Given the description of an element on the screen output the (x, y) to click on. 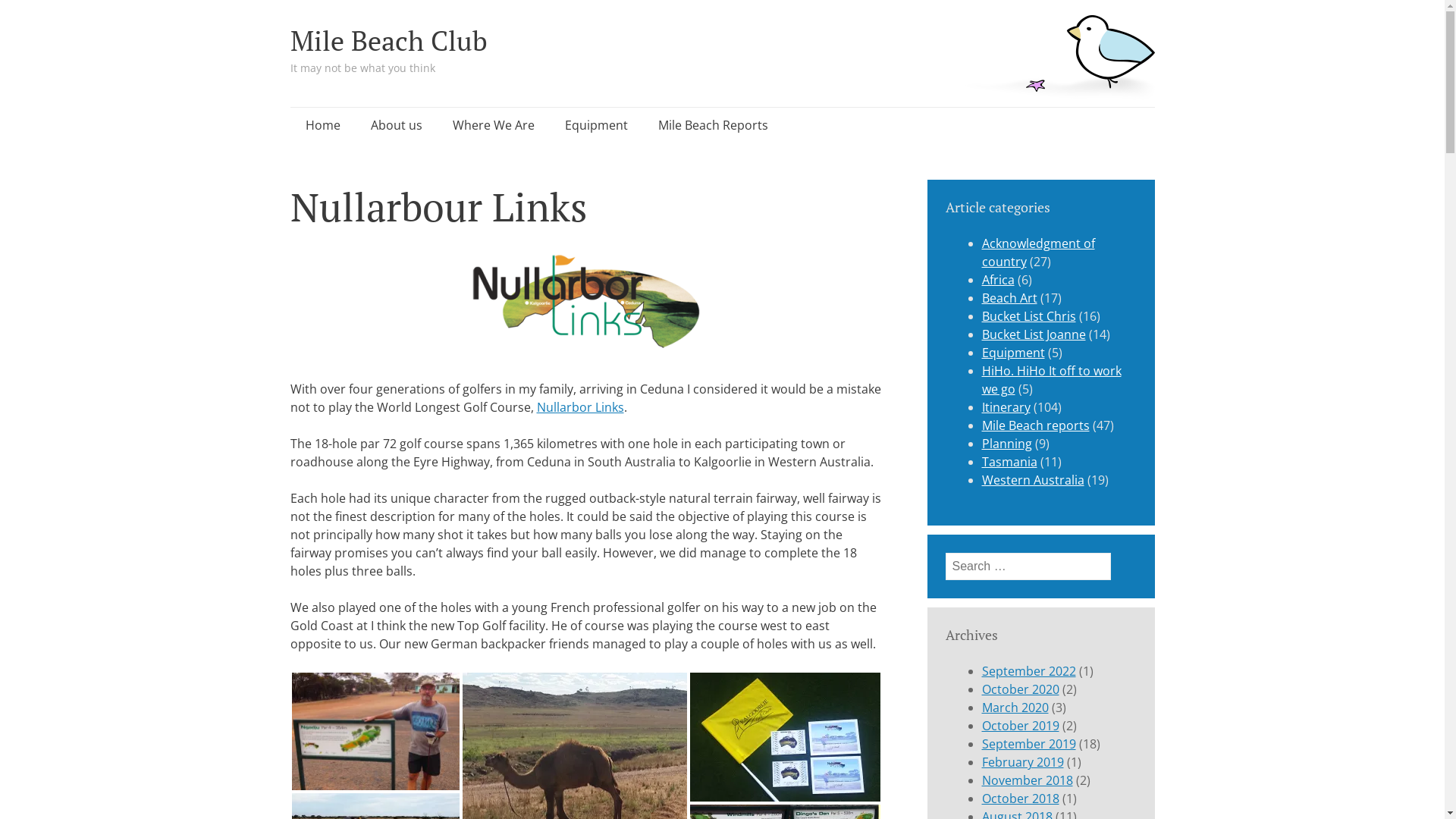
September 2019 Element type: text (1028, 743)
September 2022 Element type: text (1028, 670)
Bucket List Chris Element type: text (1028, 315)
March 2020 Element type: text (1014, 707)
Beach Art Element type: text (1008, 297)
Itinerary Element type: text (1005, 406)
October 2018 Element type: text (1019, 798)
Home Element type: text (321, 124)
Equipment Element type: text (1012, 352)
October 2019 Element type: text (1019, 725)
Mile Beach reports Element type: text (1034, 425)
Mile Beach Club Element type: text (387, 40)
HiHo. HiHo It off to work we go Element type: text (1050, 379)
Bucket List Joanne Element type: text (1033, 334)
Nullarbor Links Element type: text (580, 406)
Western Australia Element type: text (1032, 479)
Tasmania Element type: text (1008, 461)
Mile Beach Reports Element type: text (713, 124)
November 2018 Element type: text (1026, 779)
Africa Element type: text (997, 279)
Search Element type: text (34, 18)
Planning Element type: text (1006, 443)
February 2019 Element type: text (1022, 761)
Skip to content Element type: text (304, 124)
About us Element type: text (395, 124)
Acknowledgment of country Element type: text (1037, 252)
Equipment Element type: text (595, 124)
October 2020 Element type: text (1019, 688)
Where We Are Element type: text (492, 124)
